Given the description of an element on the screen output the (x, y) to click on. 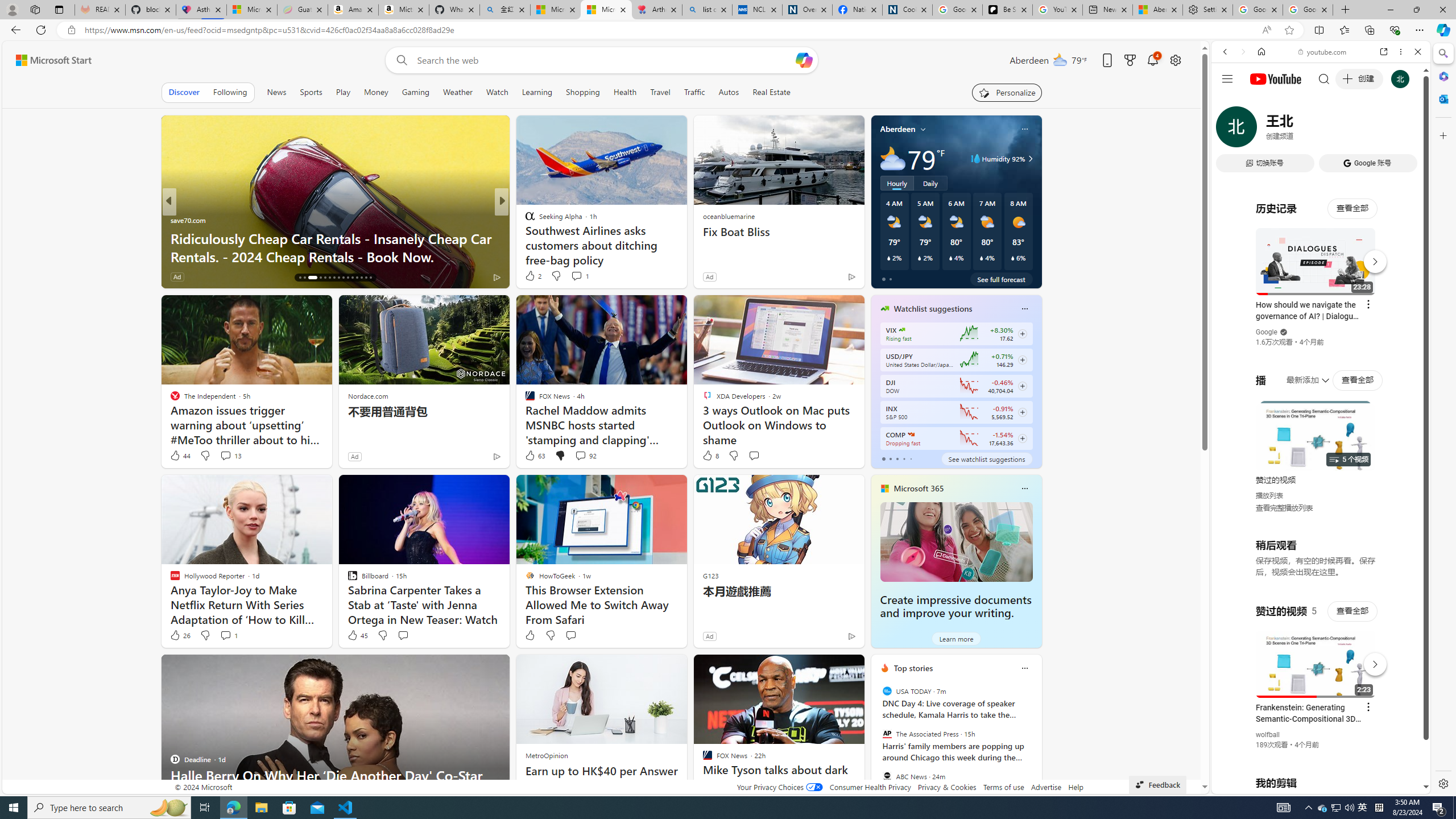
Preferences (1403, 129)
View comments 31 Comment (229, 276)
AutomationID: tab-24 (343, 277)
Microsoft Start (53, 60)
tab-1 (889, 458)
Health (624, 92)
Cookies (907, 9)
G123 (710, 574)
Arthritis: Ask Health Professionals (656, 9)
Watchlist suggestions (932, 308)
